Given the description of an element on the screen output the (x, y) to click on. 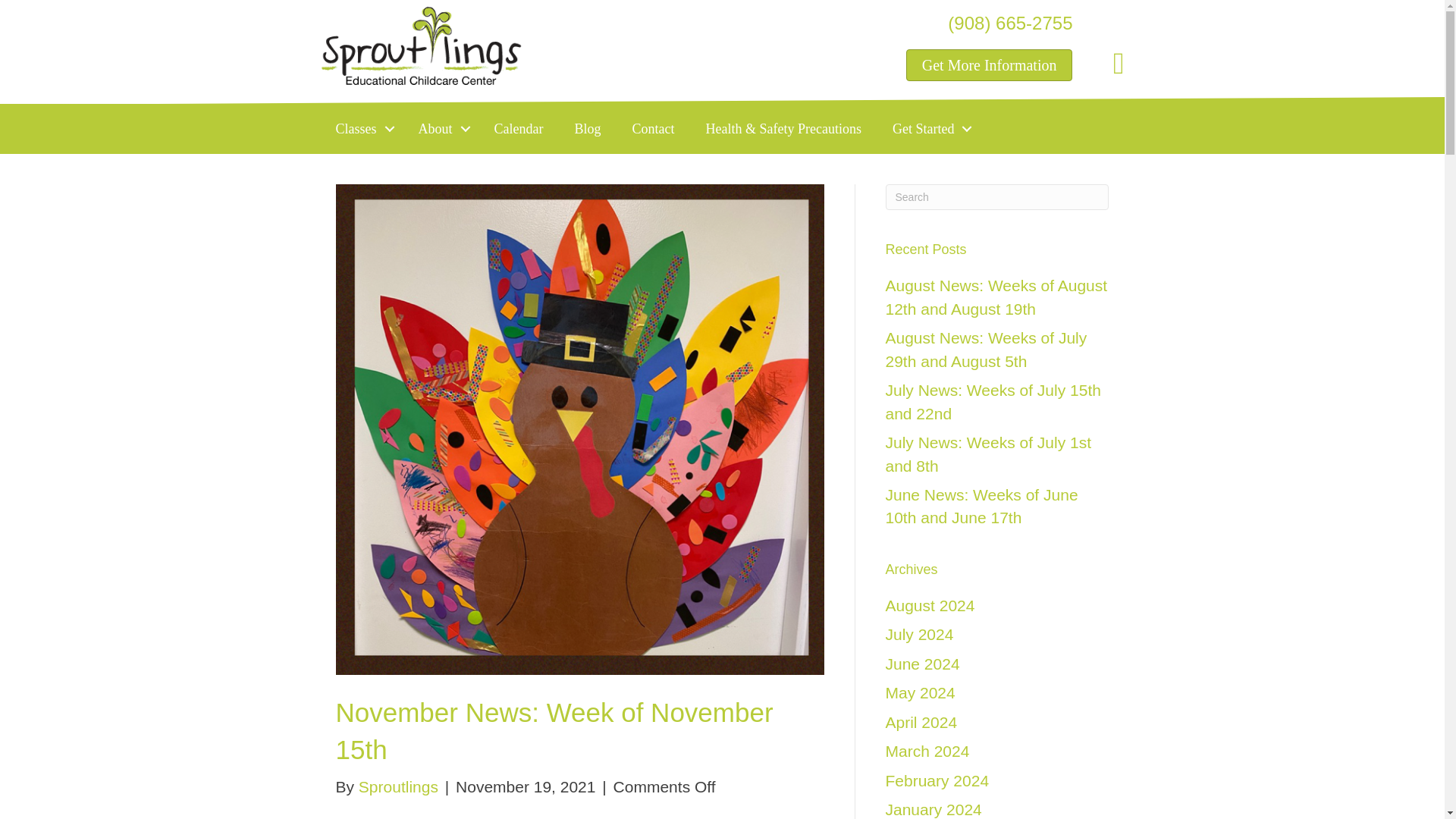
Blog (587, 128)
Get Started (928, 128)
sproutlings-logo-2 (421, 46)
Get More Information (989, 65)
Sproutlings (398, 786)
About (441, 128)
Type and press Enter to search. (997, 196)
Contact (651, 128)
Classes (360, 128)
Calendar (519, 128)
